Given the description of an element on the screen output the (x, y) to click on. 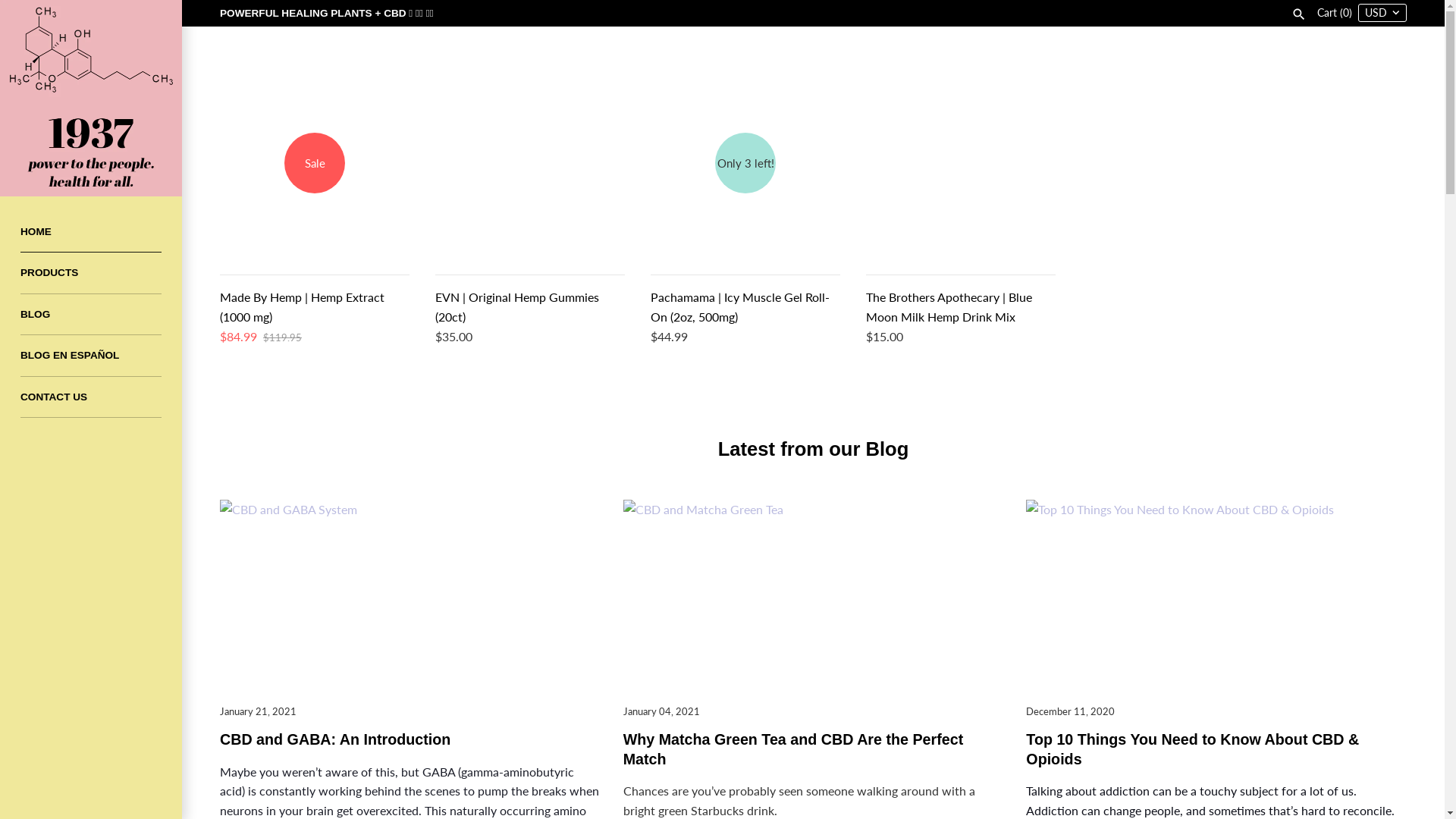
EVN | Original Hemp Gummies (20ct) Element type: hover (529, 162)
CONTACT US Element type: text (90, 397)
CBD and GABA: An Introduction Element type: text (334, 739)
HOME Element type: text (90, 231)
1937 Hemp Store Element type: hover (91, 98)
Why Matcha Green Tea and CBD Are the Perfect Match Element type: text (793, 749)
The Brothers Apothecary | Blue Moon Milk Hemp Drink Mix Element type: text (949, 306)
Only 3 left! Element type: text (745, 162)
Latest from our Blog Element type: text (813, 448)
Pachamama | Icy Muscle Gel Roll-On (2oz, 500mg) Element type: text (739, 306)
Sale Element type: text (314, 162)
PRODUCTS Element type: text (90, 273)
Cart (0) Element type: text (1336, 12)
Made By Hemp | Hemp Extract (1000 mg) Element type: text (301, 306)
Search Element type: text (1298, 12)
EVN | Original Hemp Gummies (20ct) Element type: text (517, 306)
BLOG Element type: text (90, 314)
The Brothers Apothecary | Blue Moon Milk Hemp Drink Mix Element type: hover (960, 162)
Top 10 Things You Need to Know About CBD & Opioids Element type: text (1192, 749)
